Given the description of an element on the screen output the (x, y) to click on. 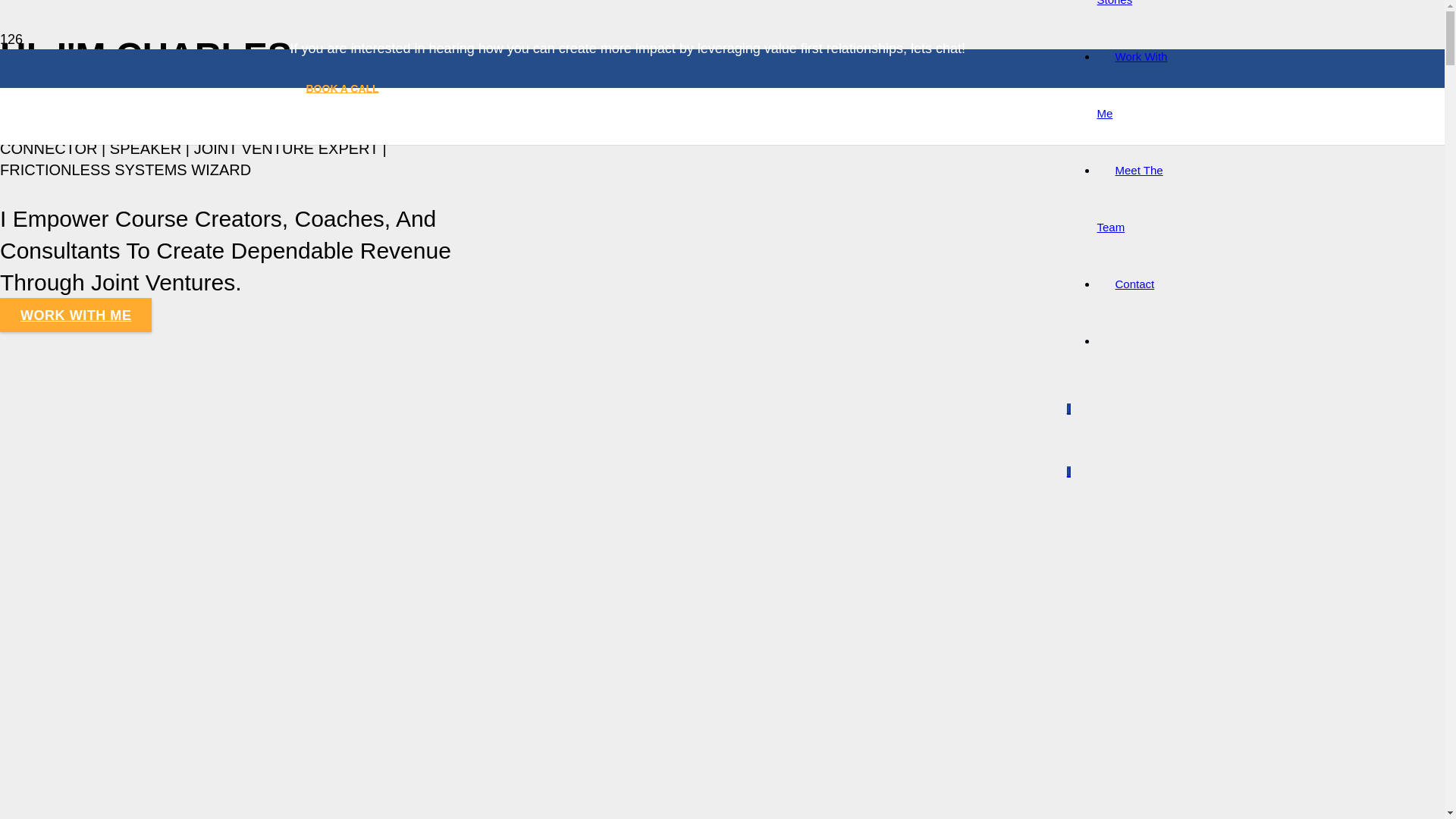
Work With Me (1131, 84)
Meet The Team (1128, 198)
BOOK A CALL (341, 88)
Contact (1134, 283)
Success Stories (1126, 2)
WORK WITH ME (75, 315)
